Given the description of an element on the screen output the (x, y) to click on. 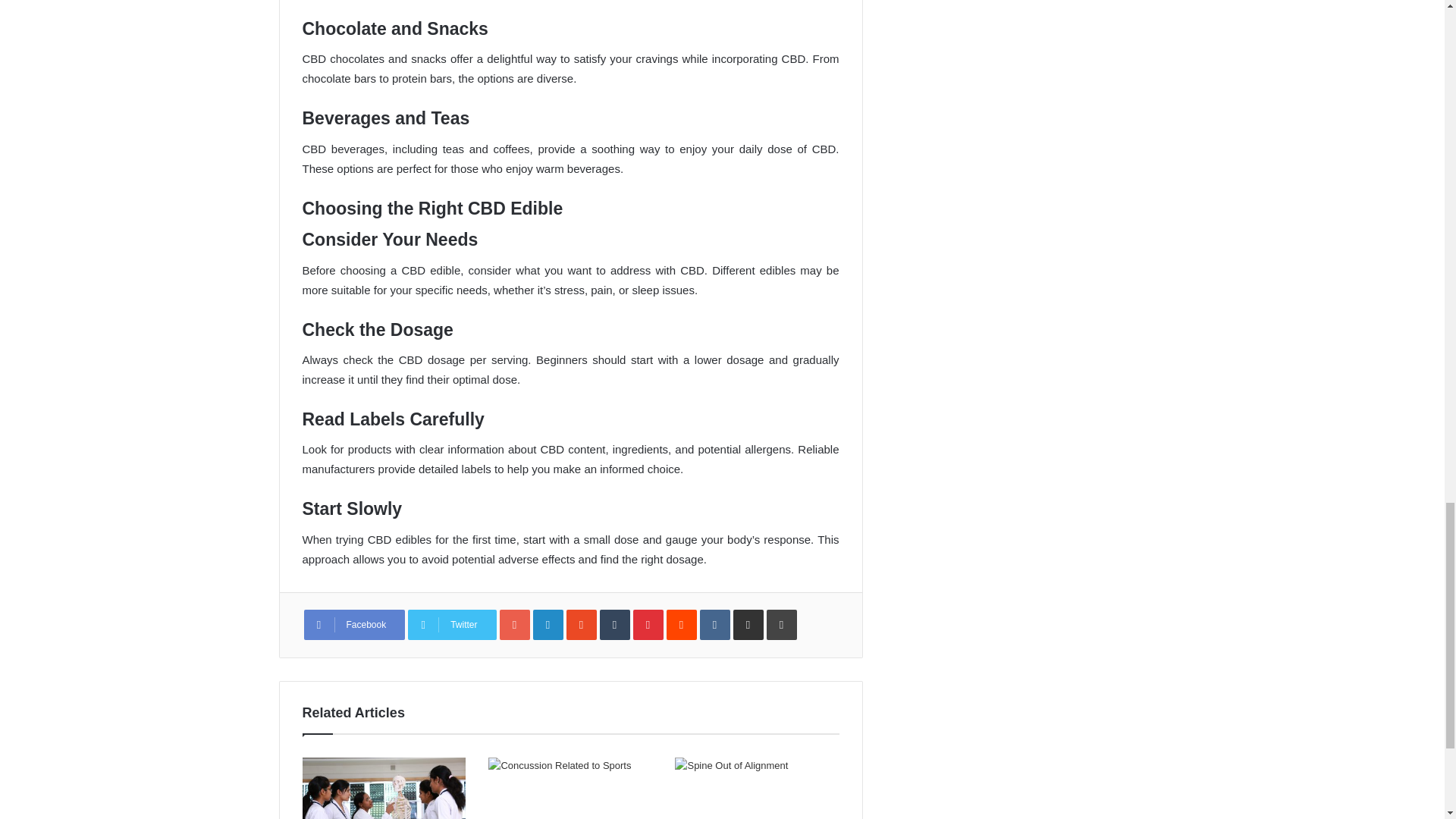
Is Your Spine Out of Alignment? (756, 788)
LinkedIn (547, 624)
Share via Email (747, 624)
Pinterest (648, 624)
StumbleUpon (581, 624)
Twitter (451, 624)
Print (781, 624)
Concussion Related to Sports (569, 788)
VKontakte (715, 624)
Facebook (353, 624)
Tumblr (614, 624)
Reddit (681, 624)
